Given the description of an element on the screen output the (x, y) to click on. 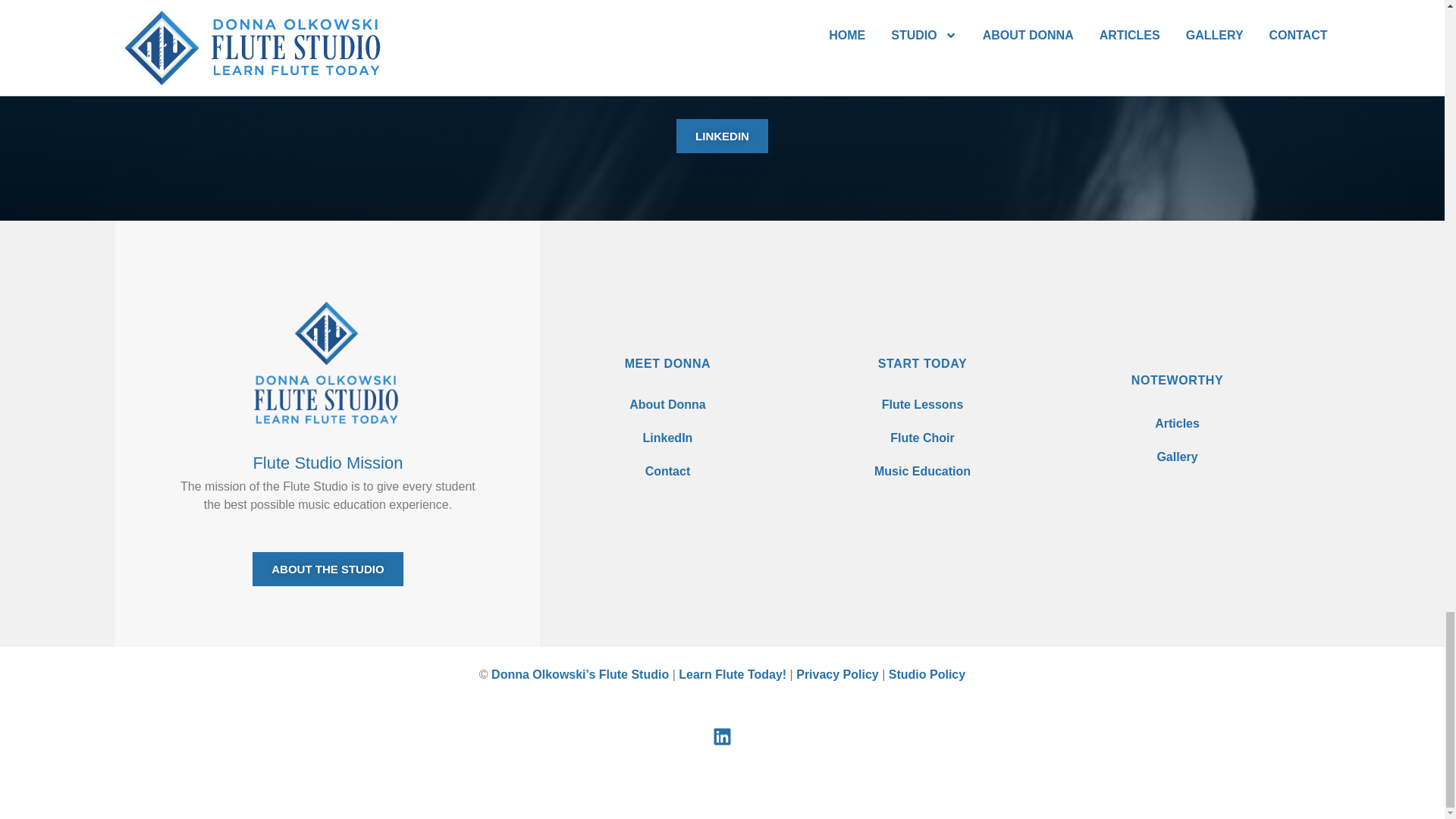
About Donna Olkowski (667, 404)
Connect on LinkedIn (667, 438)
